Given the description of an element on the screen output the (x, y) to click on. 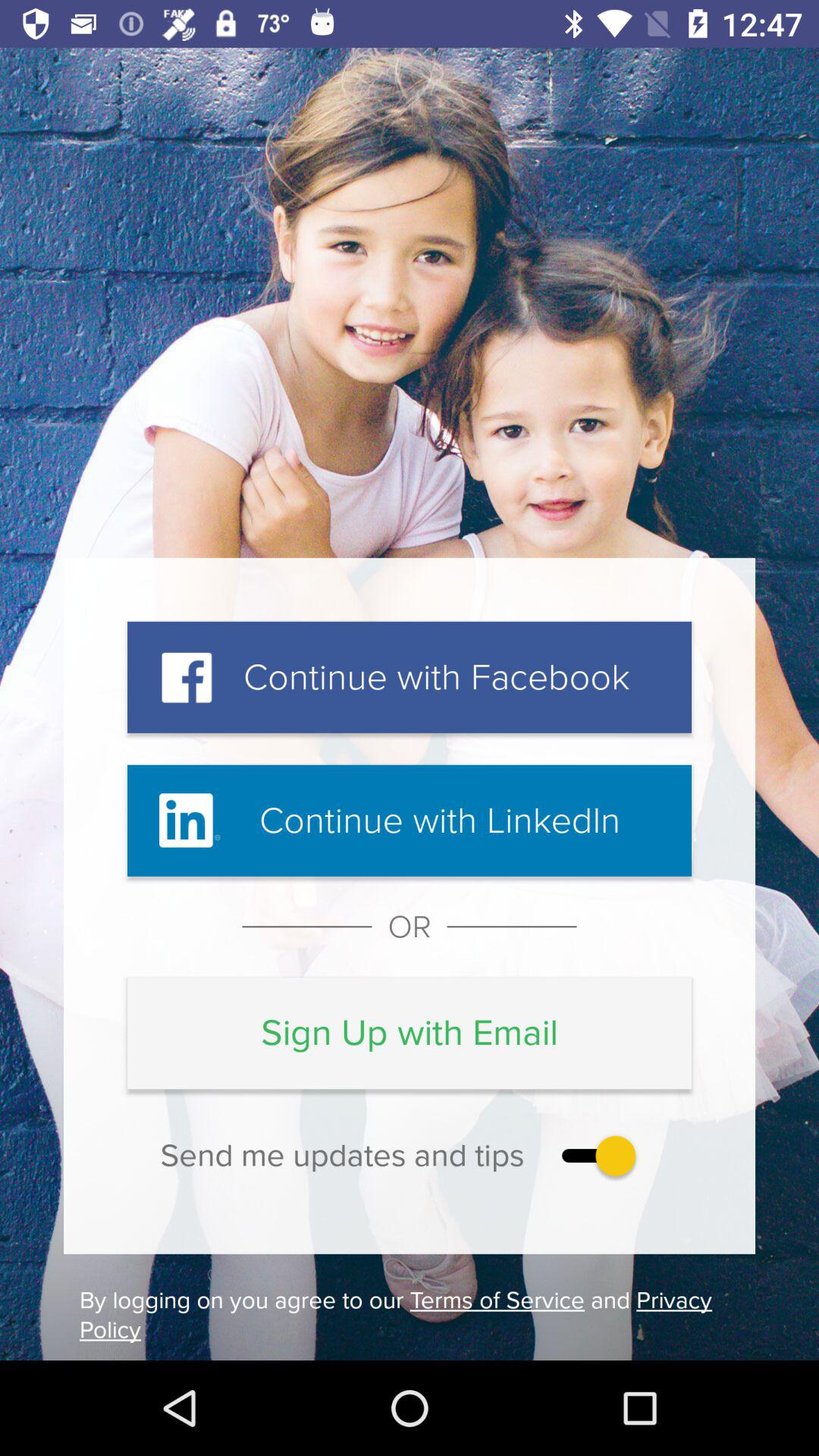
turn off the by logging on icon (409, 1314)
